Given the description of an element on the screen output the (x, y) to click on. 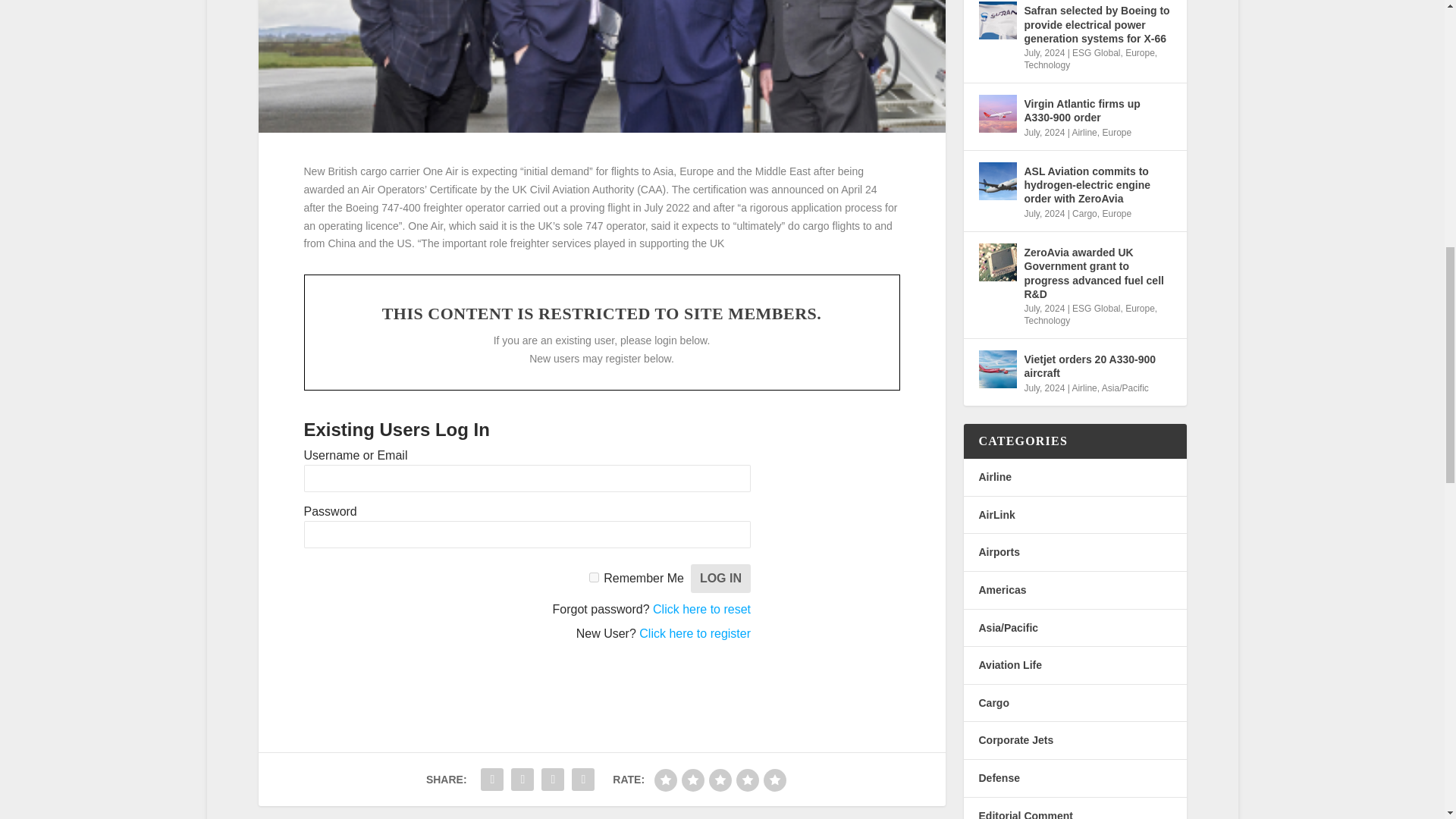
poor (692, 780)
forever (593, 577)
regular (720, 780)
Log In (720, 578)
gorgeous (774, 780)
bad (665, 780)
good (747, 780)
